Given the description of an element on the screen output the (x, y) to click on. 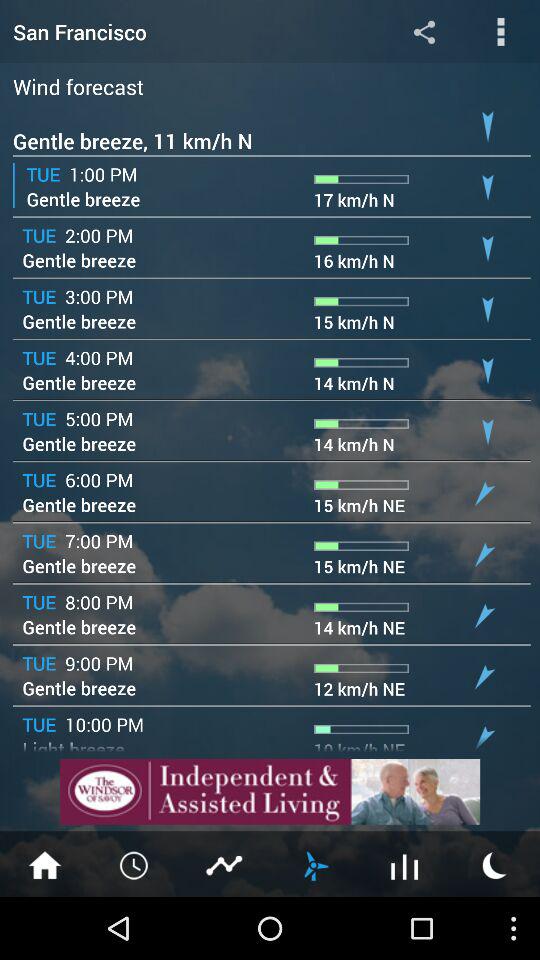
advertisement (270, 791)
